Given the description of an element on the screen output the (x, y) to click on. 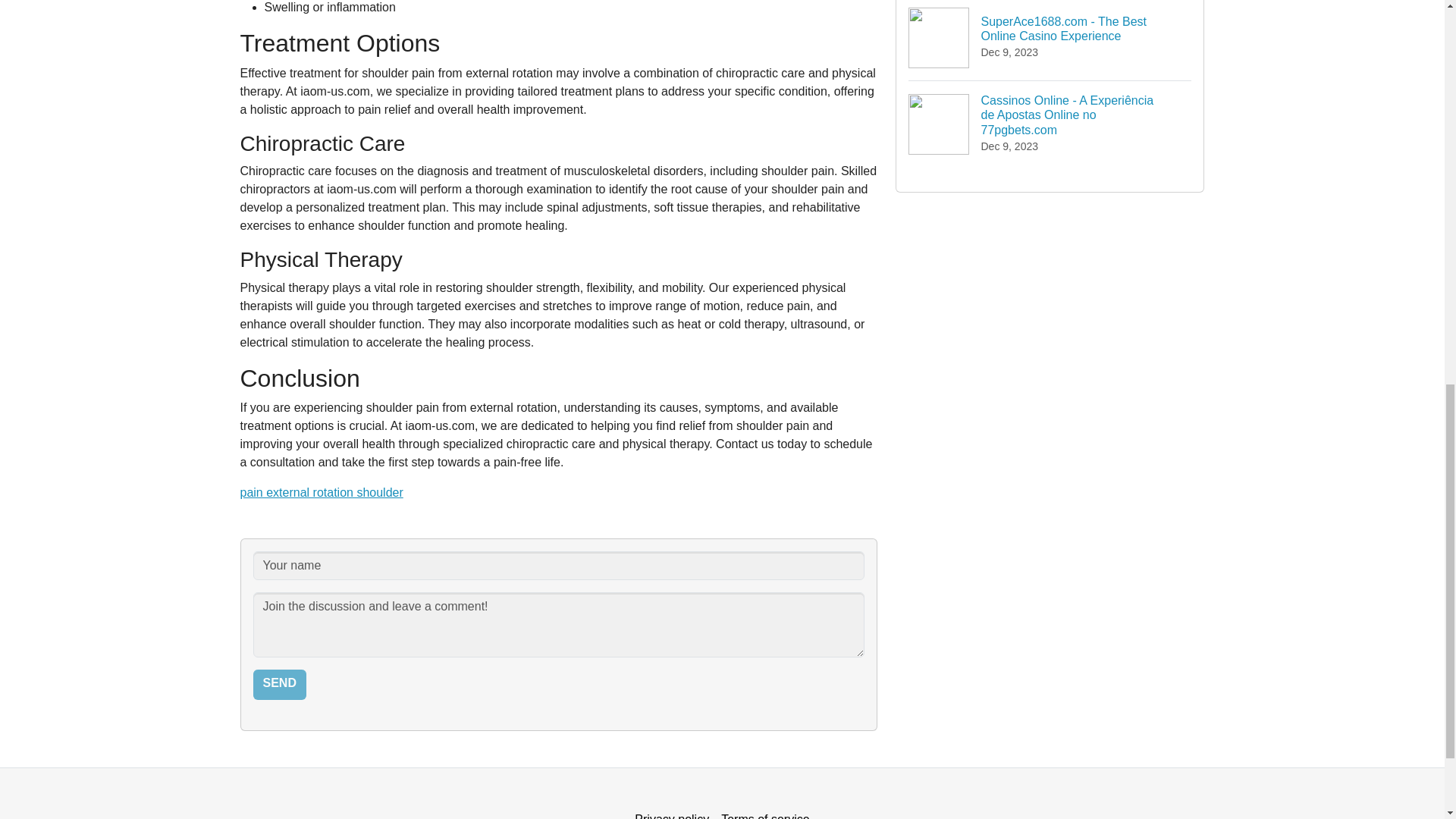
Send (279, 684)
Send (279, 684)
Privacy policy (671, 811)
Terms of service (764, 811)
pain external rotation shoulder (321, 492)
